Given the description of an element on the screen output the (x, y) to click on. 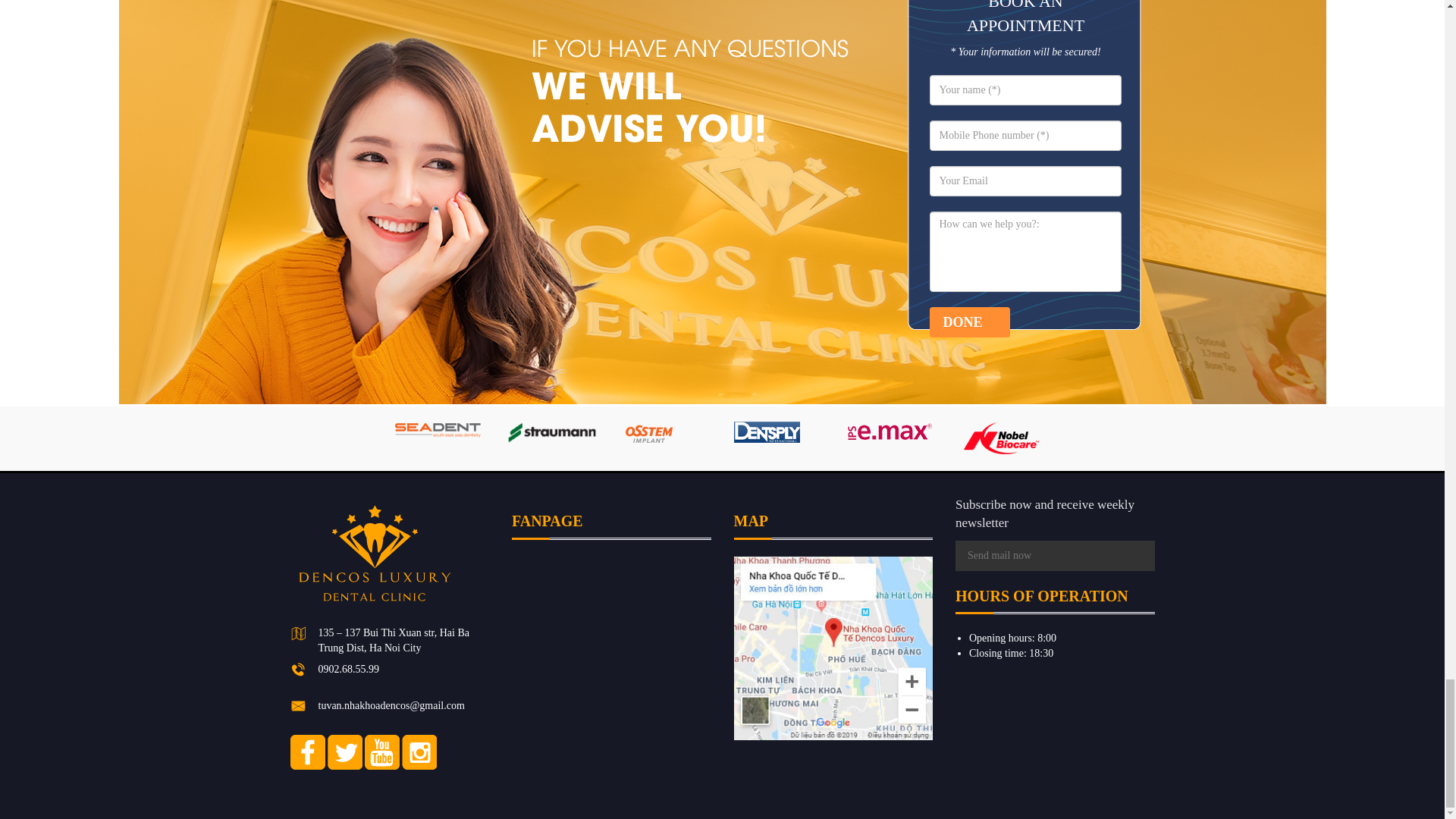
DONE (970, 322)
DONE (970, 322)
